Given the description of an element on the screen output the (x, y) to click on. 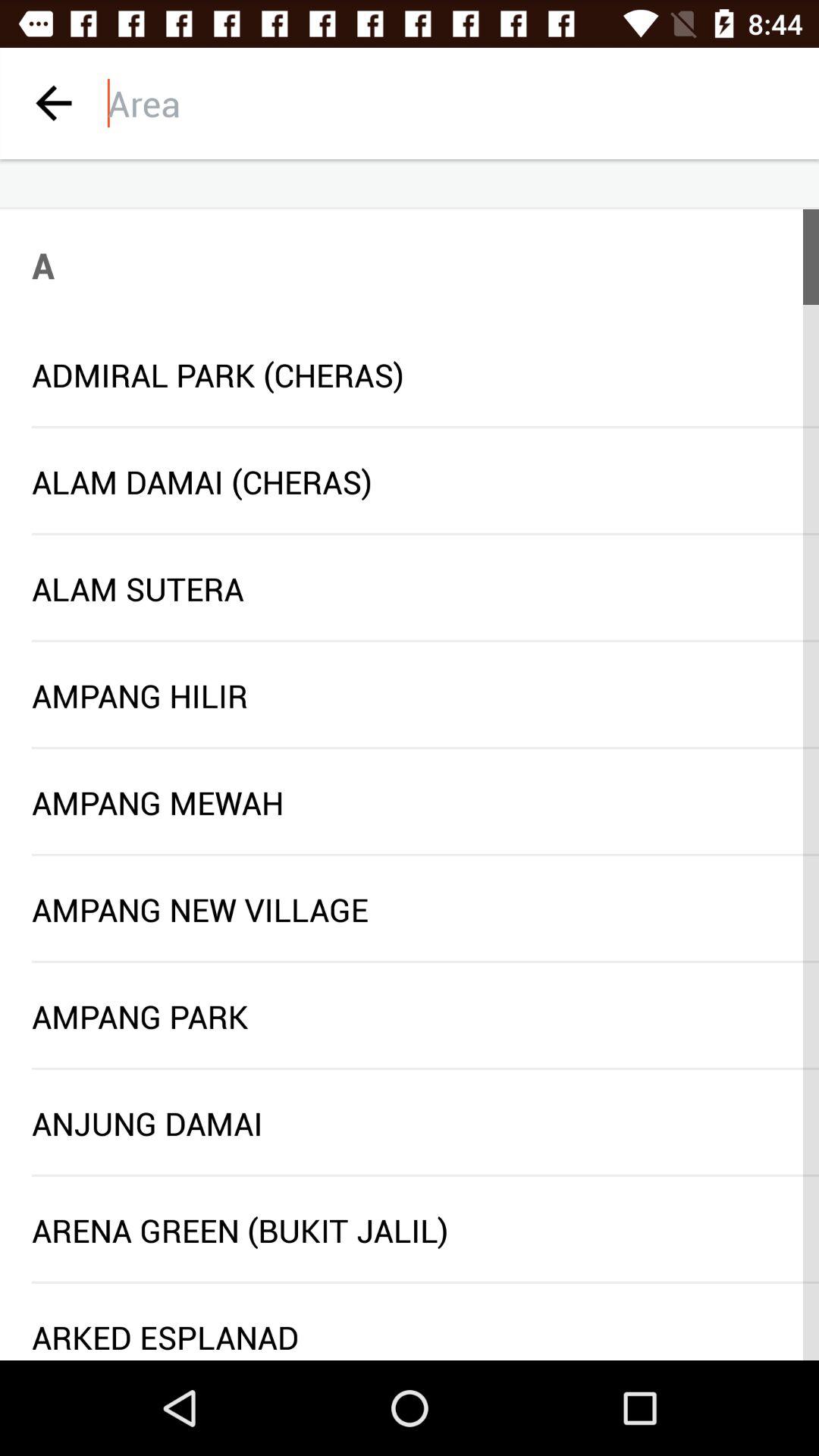
open the anjung damai icon (409, 1122)
